Given the description of an element on the screen output the (x, y) to click on. 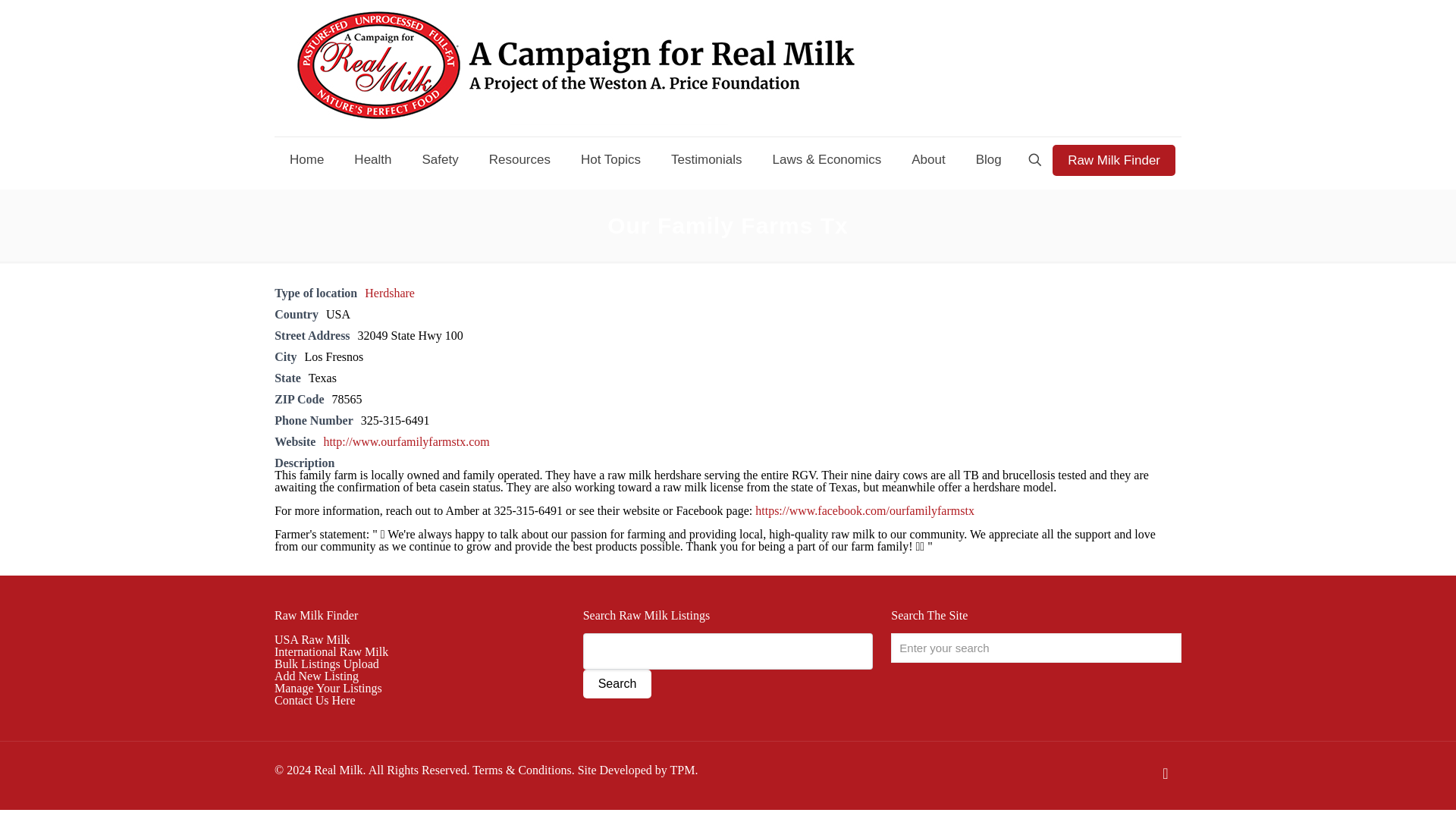
Resources (520, 159)
About (927, 159)
Raw Milk Finder (1113, 159)
Search (617, 683)
Health (372, 159)
Bulk Listings Upload (326, 663)
International Raw Milk (331, 651)
Testimonials (706, 159)
Raw Milk Finder (316, 615)
Real Milk (575, 68)
